Given the description of an element on the screen output the (x, y) to click on. 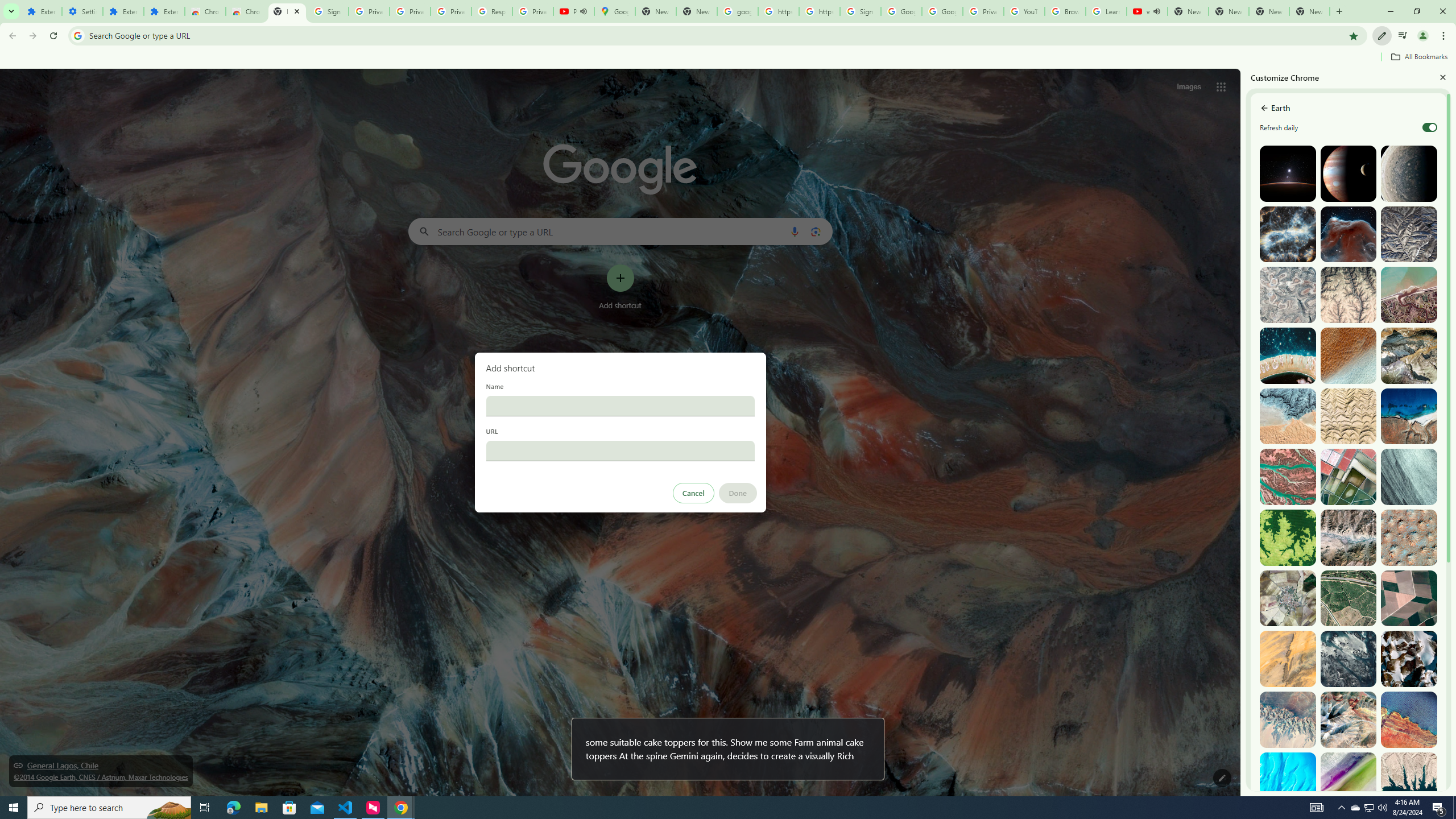
Mute tab (1156, 10)
Antarctica (1408, 658)
Isla Cristina, Spain (1348, 598)
Ouargla, Algeria (1408, 537)
Extensions (122, 11)
Aigues-Mortes, France (1348, 476)
Sign in - Google Accounts (327, 11)
Hainan, China (1408, 780)
Sign in - Google Accounts (860, 11)
Chrome Web Store - Themes (246, 11)
